Given the description of an element on the screen output the (x, y) to click on. 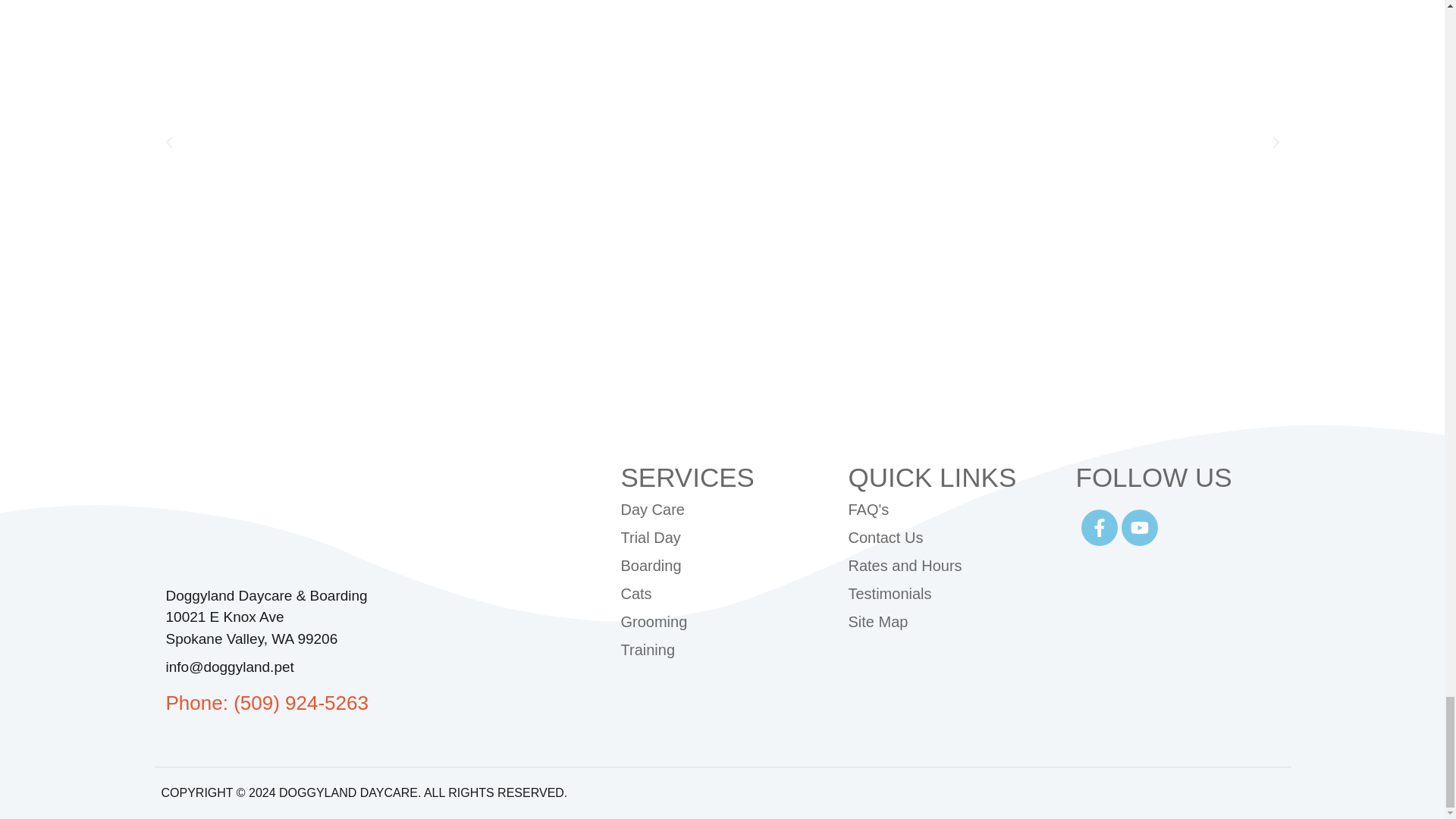
doggylandblack (279, 521)
